Given the description of an element on the screen output the (x, y) to click on. 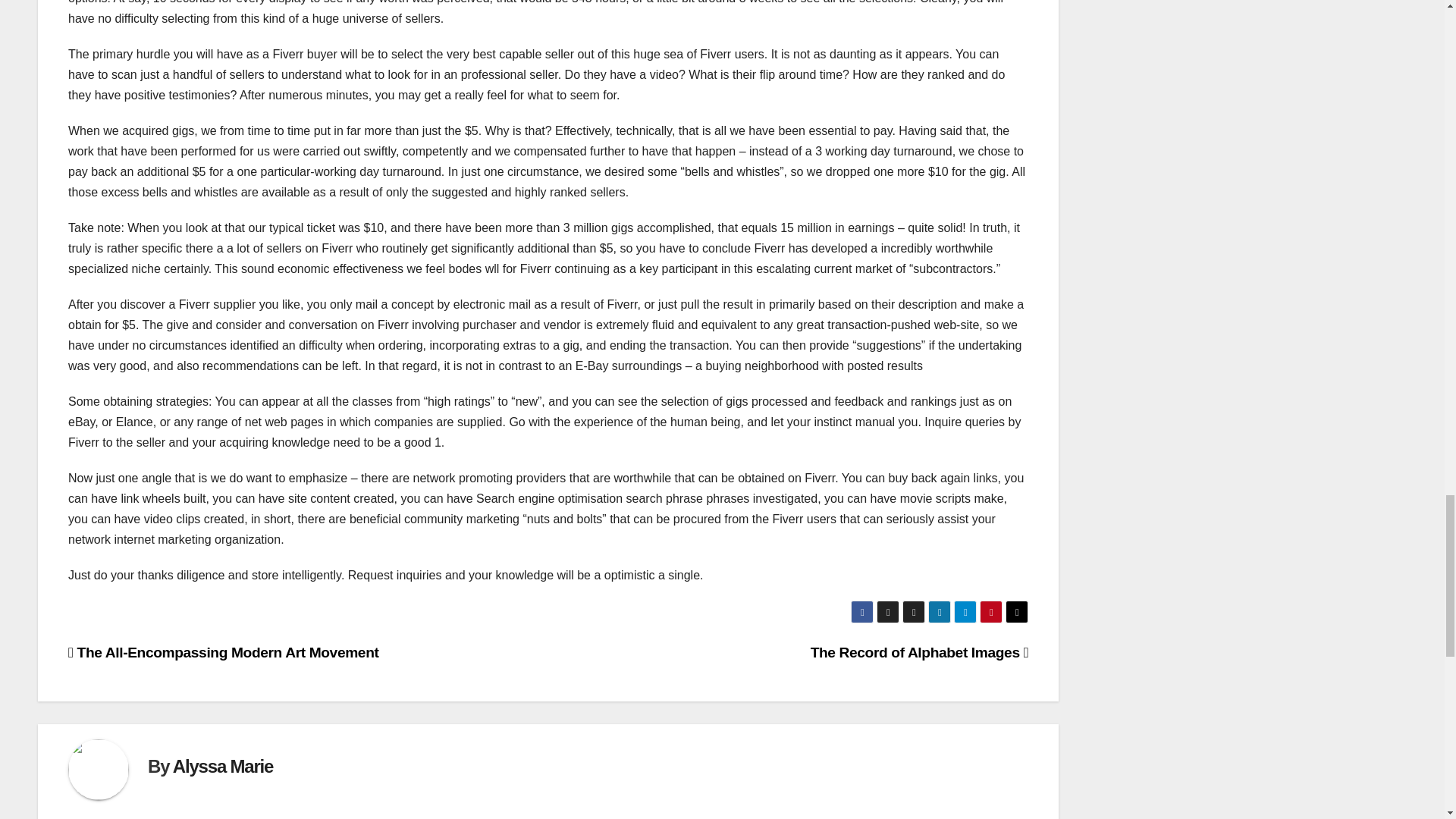
Alyssa Marie (223, 765)
The All-Encompassing Modern Art Movement (223, 652)
The Record of Alphabet Images (919, 652)
